Given the description of an element on the screen output the (x, y) to click on. 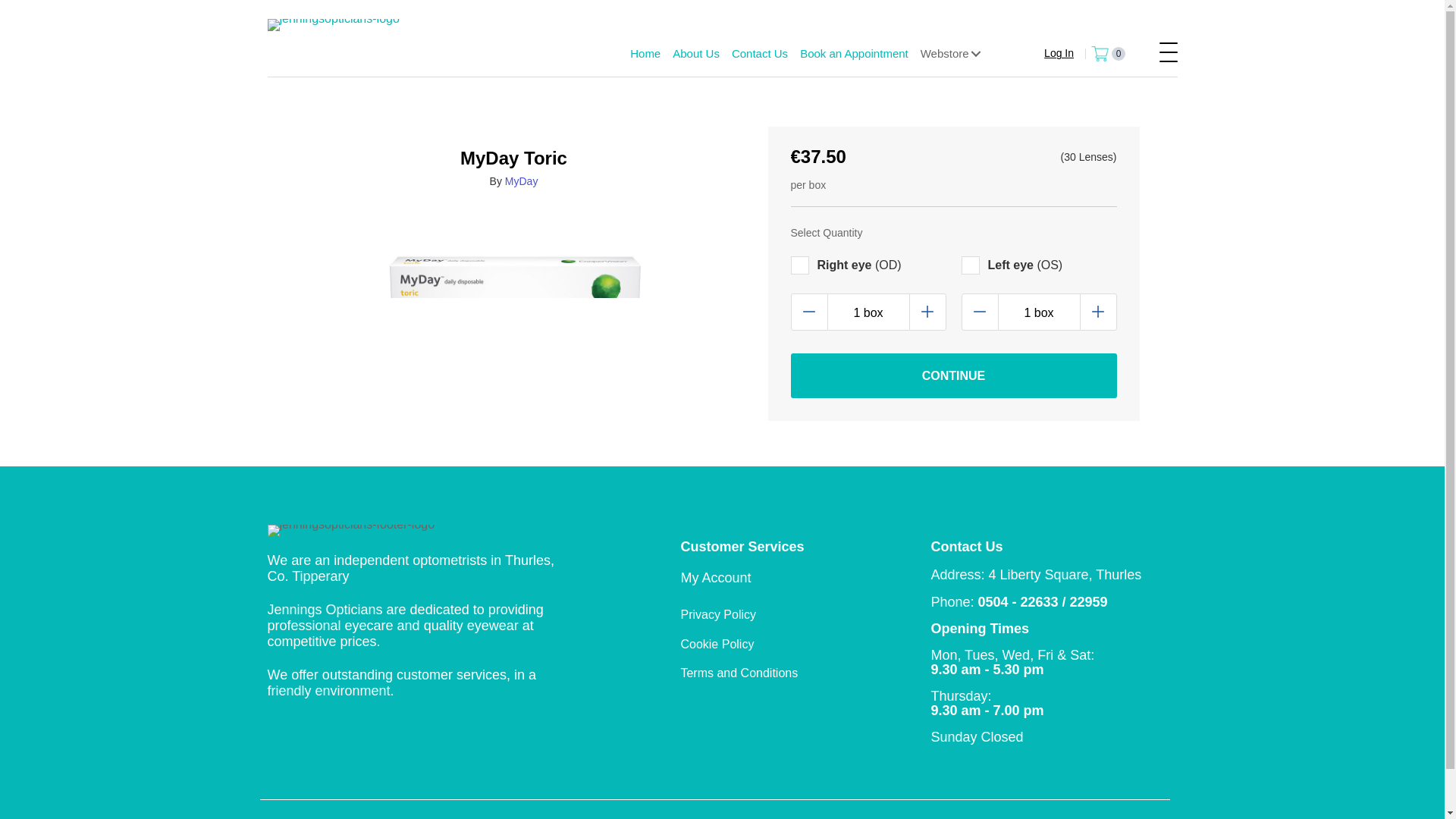
- (979, 311)
Home (645, 52)
jenningsopticians-logo (332, 24)
Webstore (952, 52)
- (808, 311)
Contact Us (759, 52)
About Us (695, 52)
CONTINUE (953, 375)
View your shopping cart (1107, 53)
0 (1107, 53)
Book an Appointment (853, 52)
Log In (1049, 53)
